Given the description of an element on the screen output the (x, y) to click on. 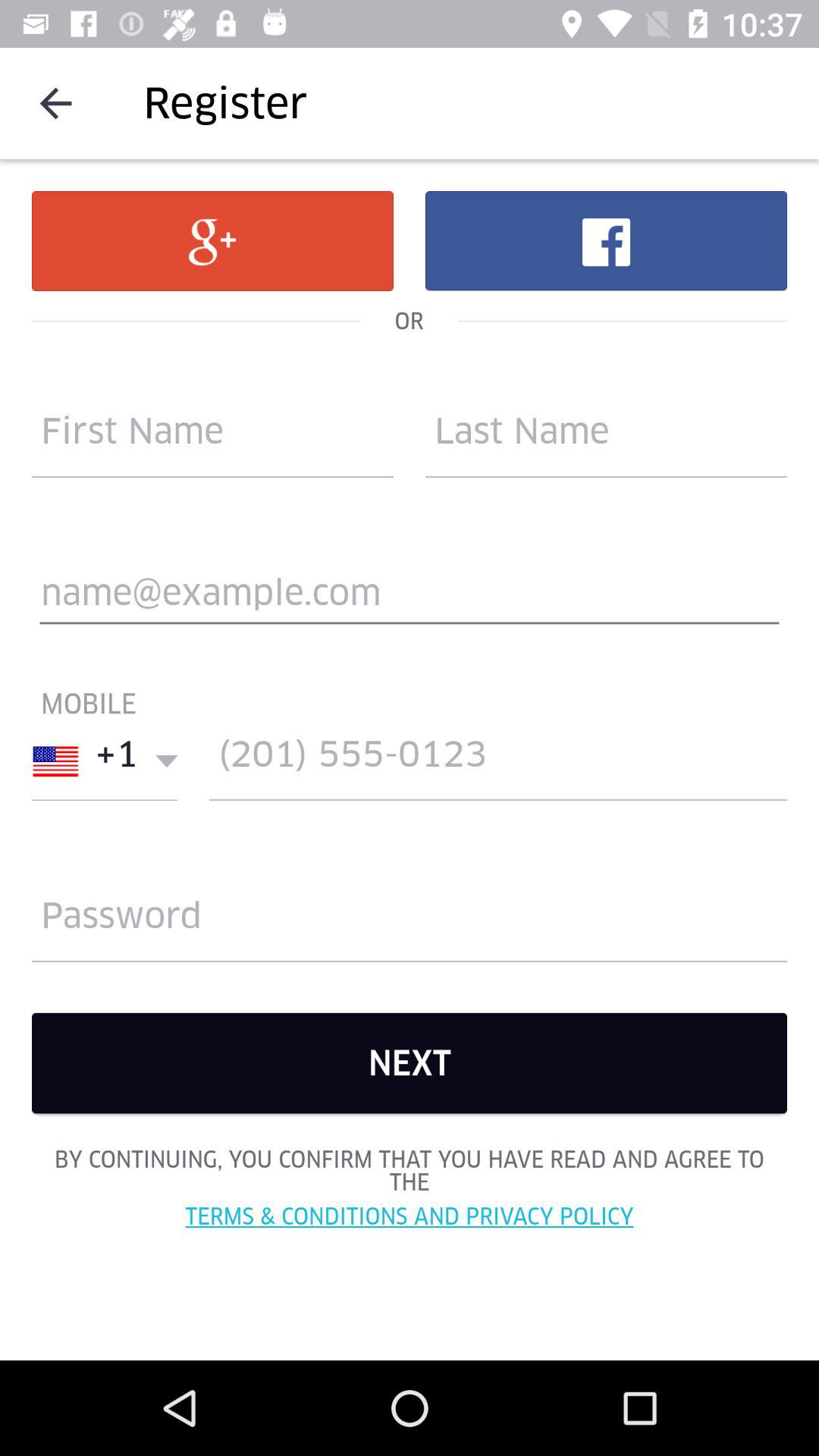
place to enter the first name (212, 438)
